Given the description of an element on the screen output the (x, y) to click on. 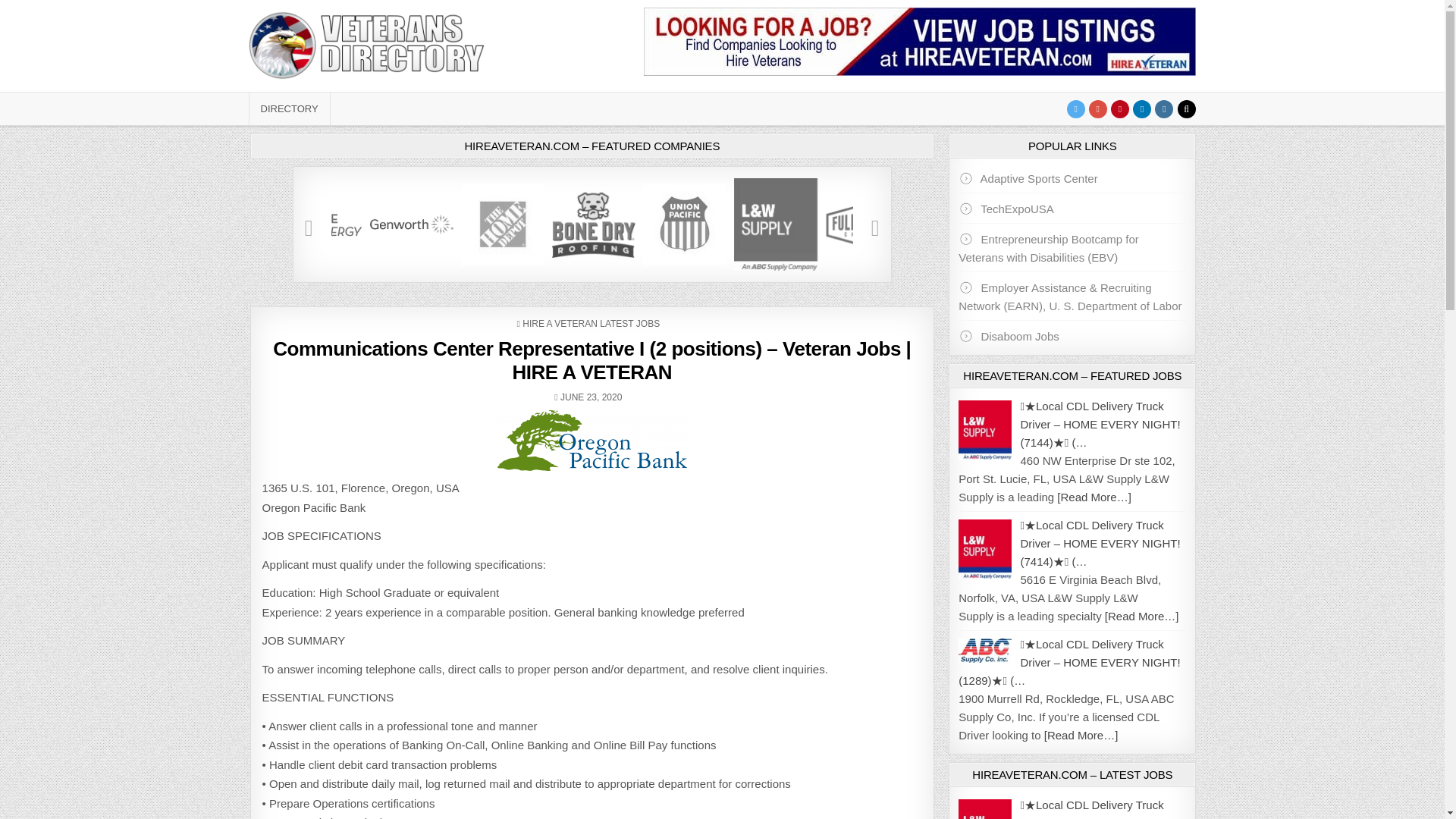
DIRECTORY (289, 108)
Linkedin (1141, 108)
Search (1185, 108)
Instagram (1163, 108)
Twitter (1075, 108)
Pinterest (1119, 108)
Google Plus (1097, 108)
